Given the description of an element on the screen output the (x, y) to click on. 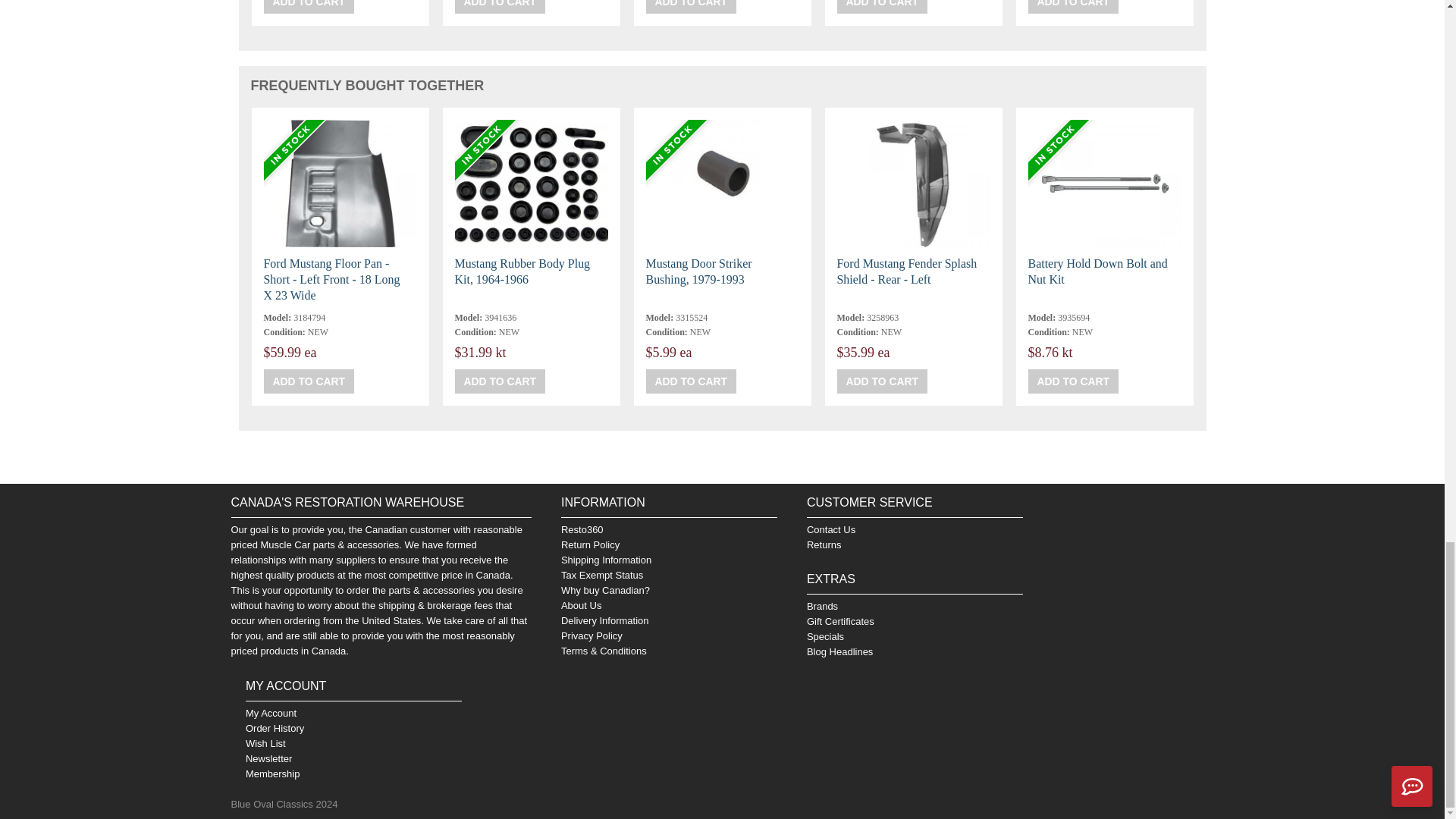
Add to Cart (882, 381)
Add to Cart (309, 6)
Add to Cart (500, 381)
Add to Cart (691, 381)
Add to Cart (500, 6)
Add to Cart (882, 6)
Add to Cart (309, 381)
Add to Cart (691, 6)
Add to Cart (1073, 381)
Add to Cart (1073, 6)
